Given the description of an element on the screen output the (x, y) to click on. 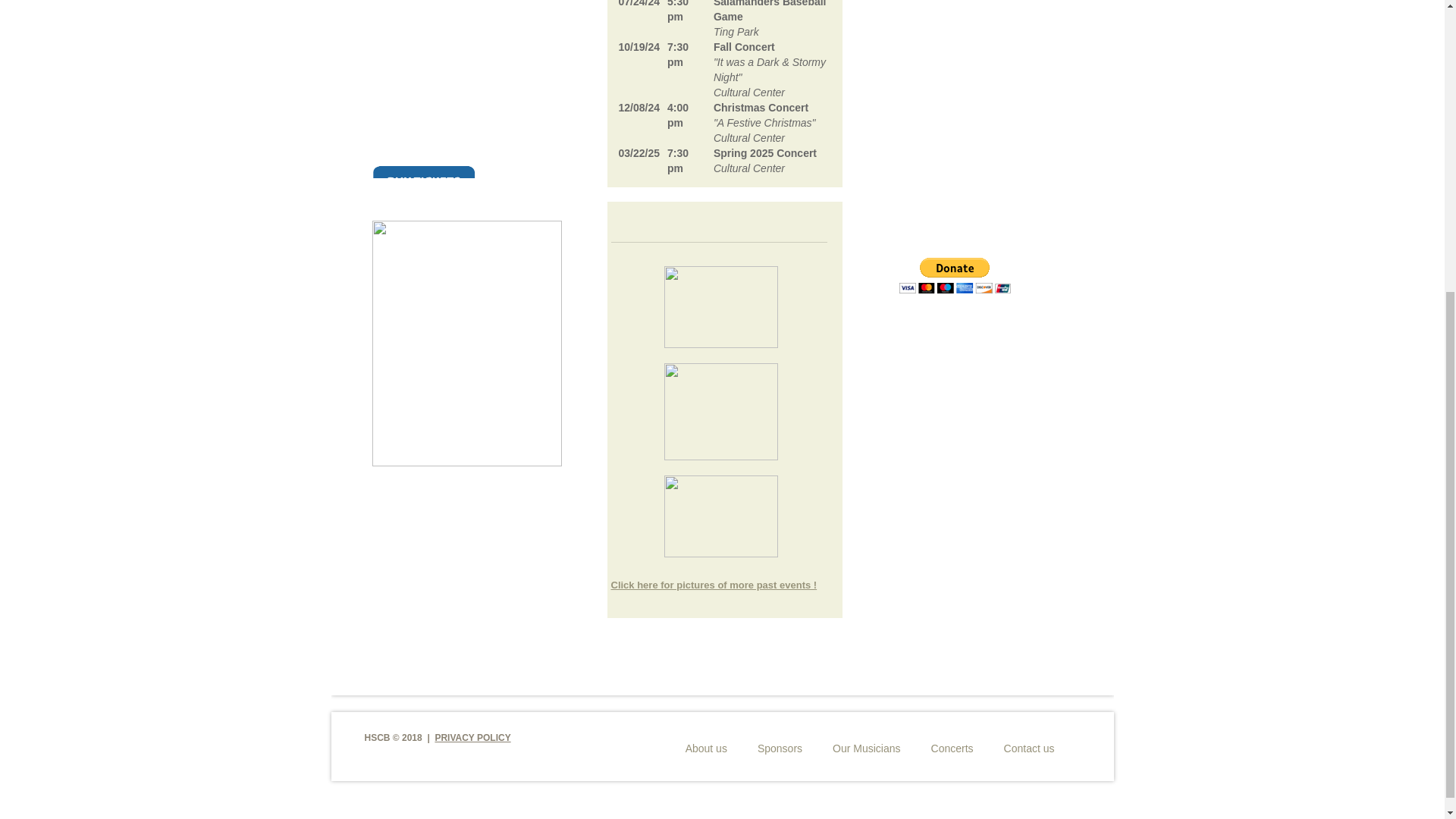
Our Musicians (865, 748)
About us (705, 748)
PRIVACY POLICY (472, 737)
Sponsors (779, 748)
Concerts (952, 748)
Click here for pictures of more past events ! (713, 584)
Contact us (1029, 748)
